Given the description of an element on the screen output the (x, y) to click on. 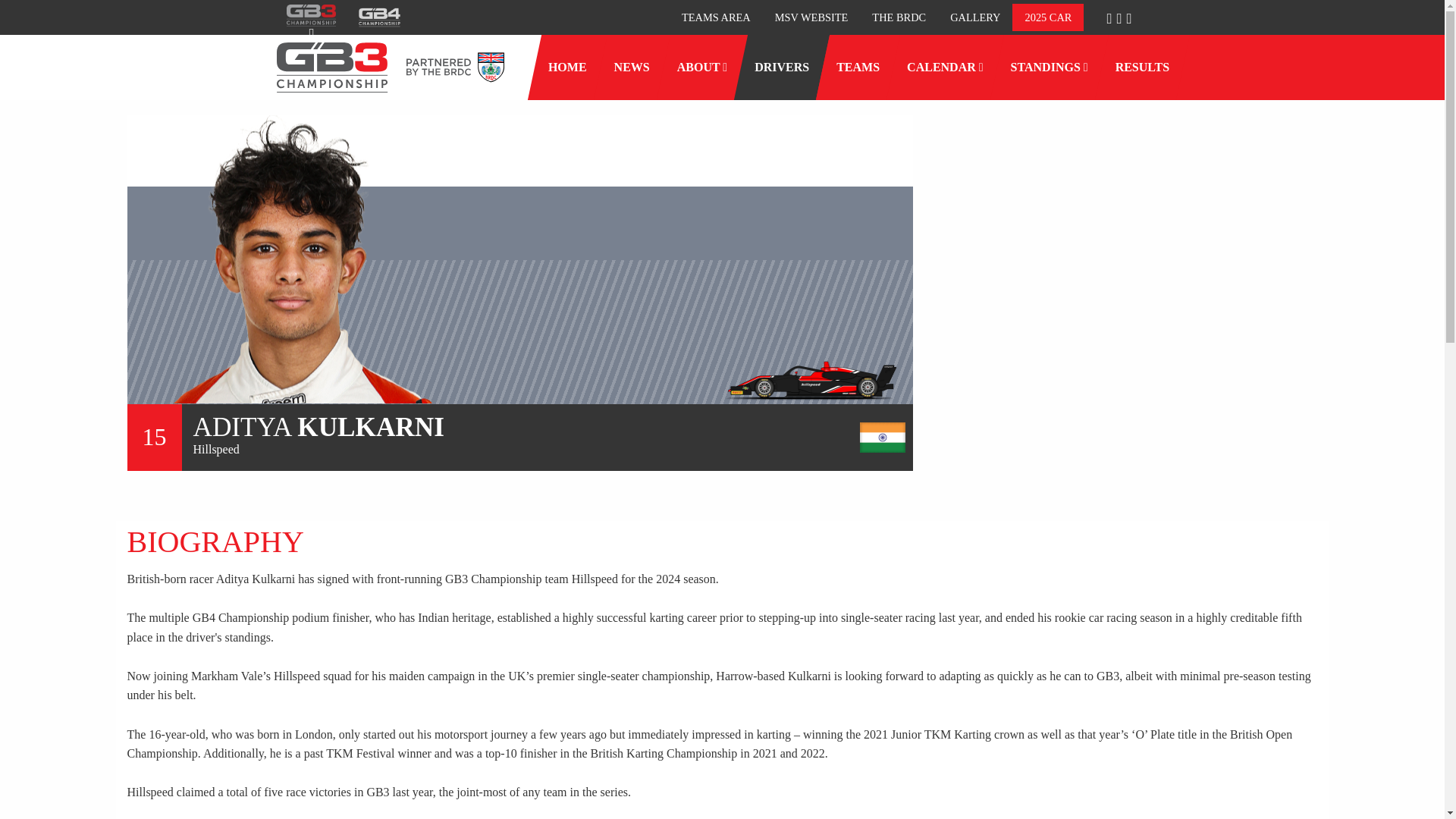
GALLERY (974, 17)
THE BRDC (898, 17)
GB3 (311, 15)
GB4 (379, 17)
MSV WEBSITE (811, 17)
TEAMS AREA (715, 17)
